Given the description of an element on the screen output the (x, y) to click on. 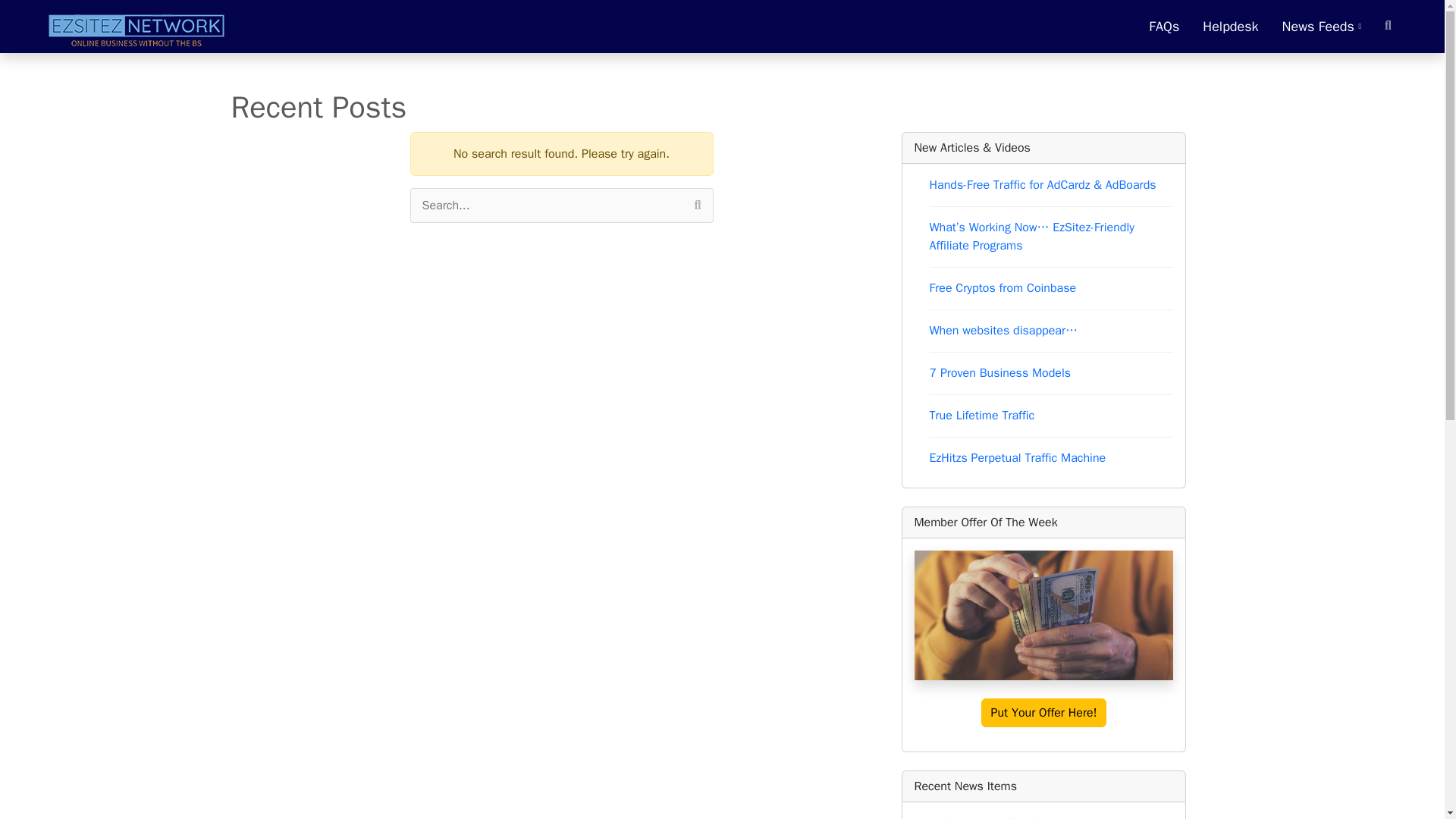
EzHitzs Perpetual Traffic Machine (1018, 458)
EzClix Daily Traffic Stats (993, 817)
Helpdesk (1229, 26)
Put Your Offer Here! (1043, 712)
FAQs (1163, 26)
News Feeds (1321, 26)
True Lifetime Traffic (982, 415)
Free Cryptos from Coinbase (1003, 287)
7 Proven Business Models (1000, 372)
